Given the description of an element on the screen output the (x, y) to click on. 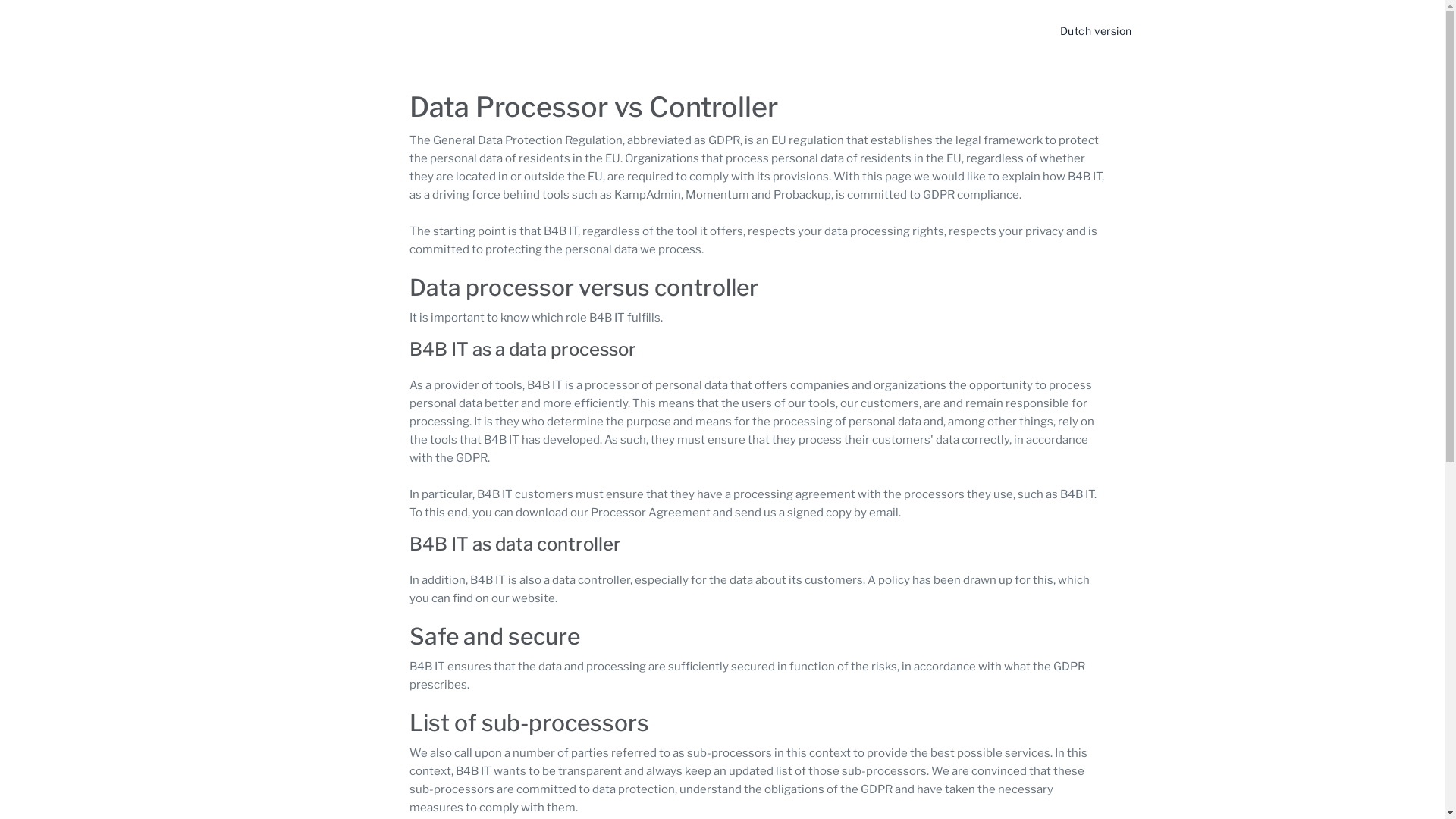
Dutch version Element type: text (1095, 30)
